Given the description of an element on the screen output the (x, y) to click on. 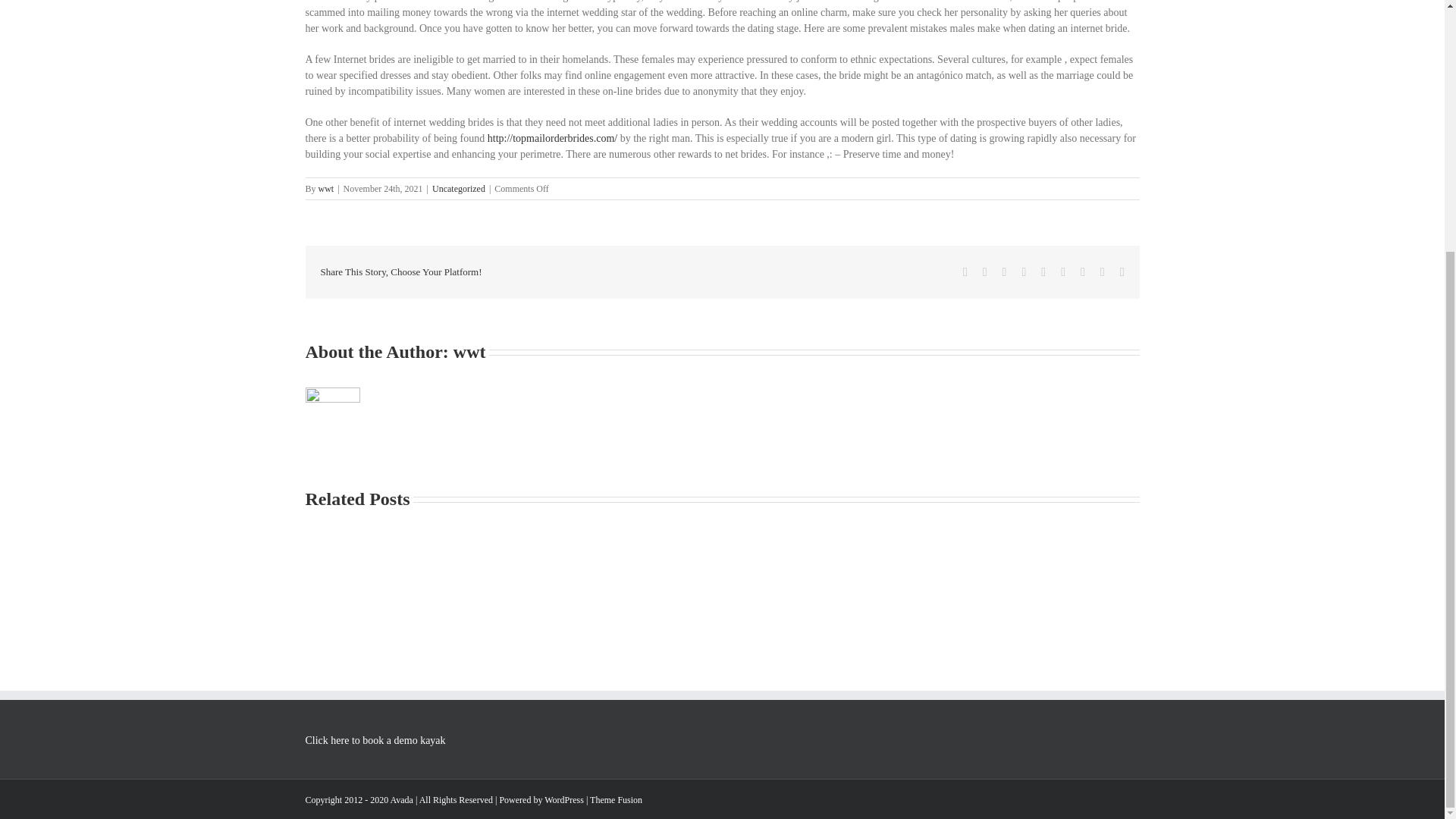
Posts by wwt (326, 188)
Posts by wwt (469, 351)
